Given the description of an element on the screen output the (x, y) to click on. 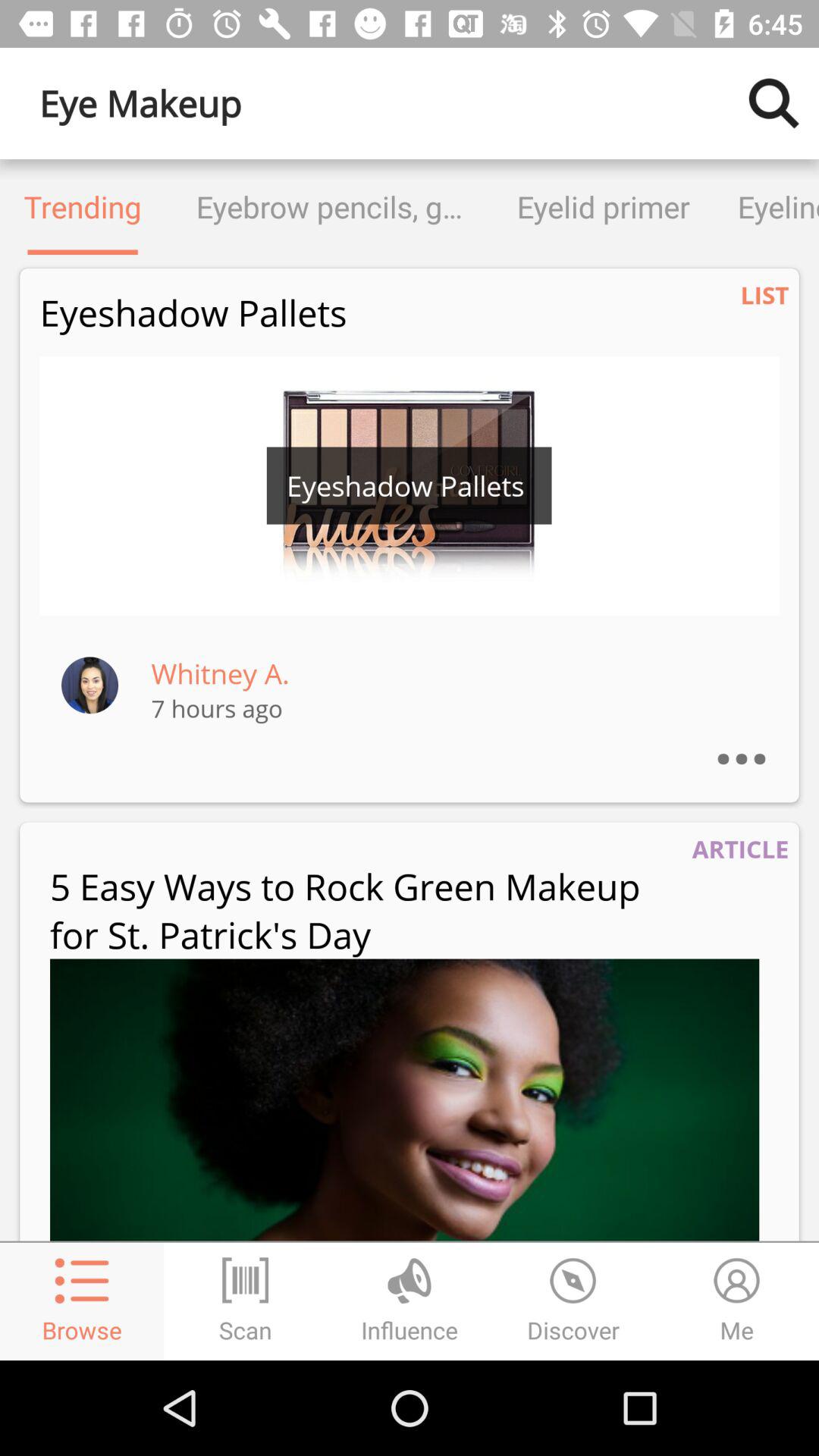
launch the icon next to eye makeup icon (773, 103)
